Given the description of an element on the screen output the (x, y) to click on. 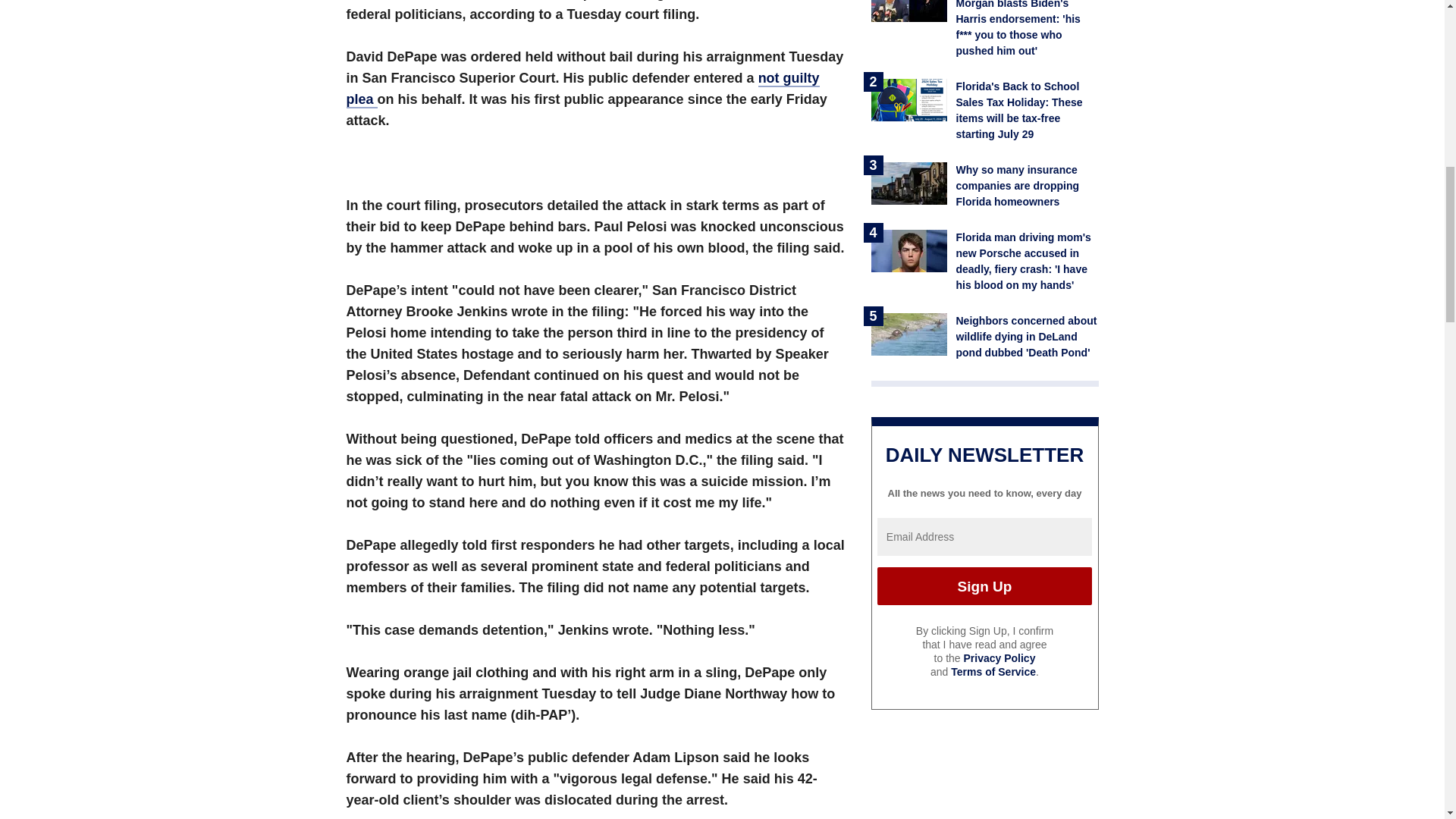
Sign Up (984, 586)
